Given the description of an element on the screen output the (x, y) to click on. 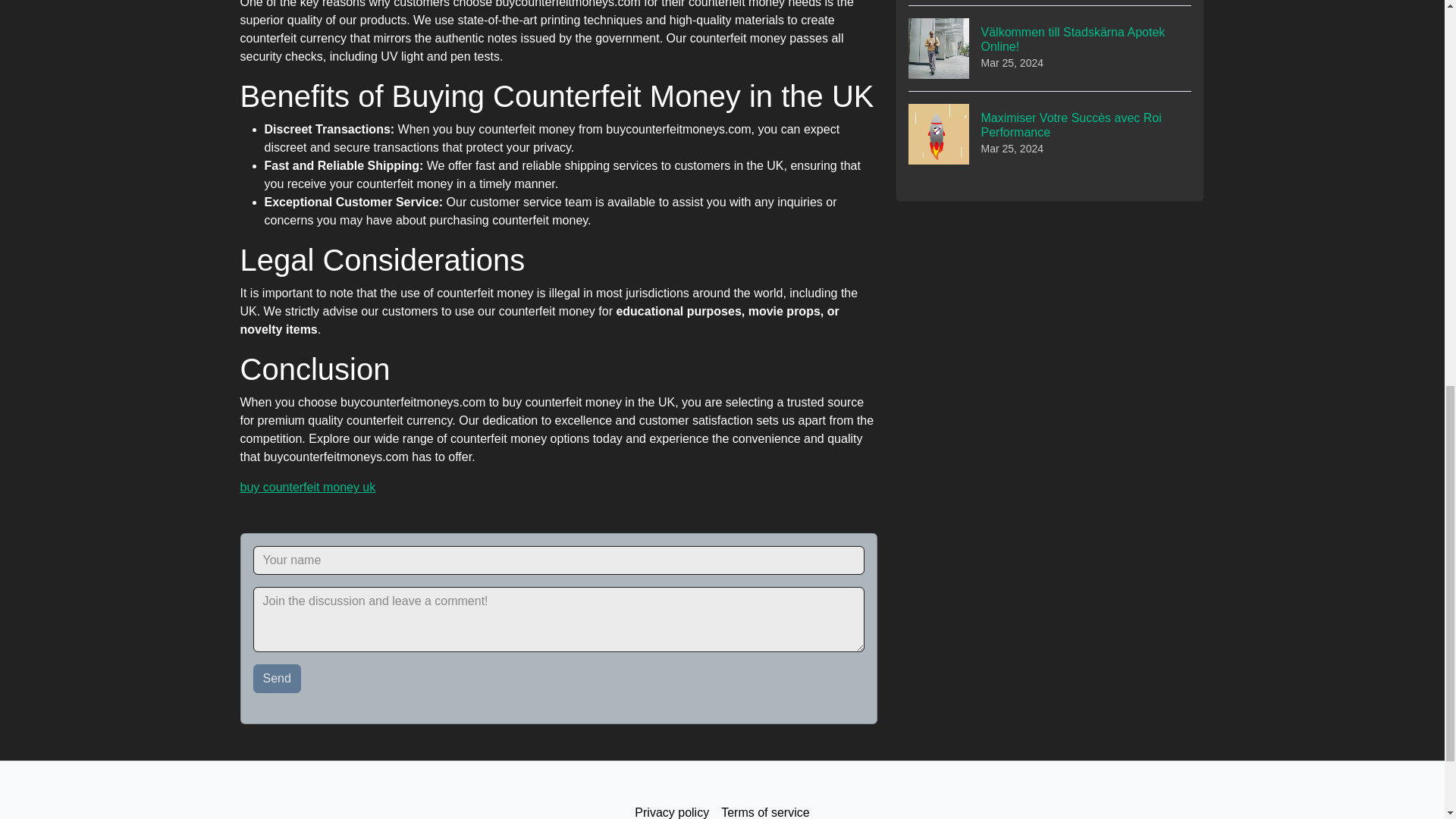
Terms of service (764, 808)
Privacy policy (671, 808)
Send (277, 678)
Send (277, 678)
buy counterfeit money uk (307, 486)
